Given the description of an element on the screen output the (x, y) to click on. 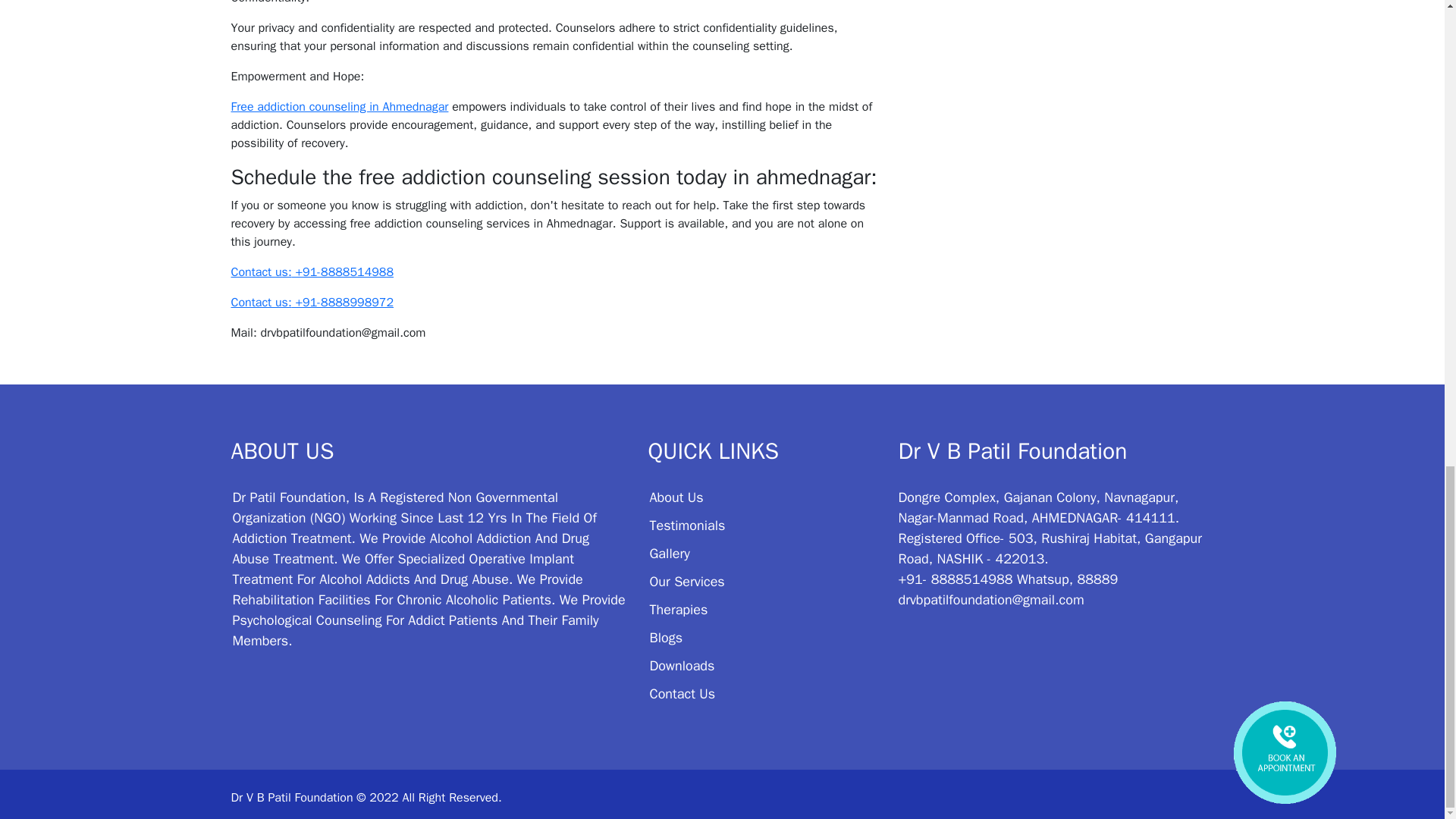
Gallery (668, 553)
Testimonials (687, 524)
About Us (676, 497)
Our Services (686, 581)
Blogs (665, 637)
Therapies (678, 609)
Downloads (681, 665)
Contact Us (681, 693)
Free addiction counseling in Ahmednagar (339, 106)
